Given the description of an element on the screen output the (x, y) to click on. 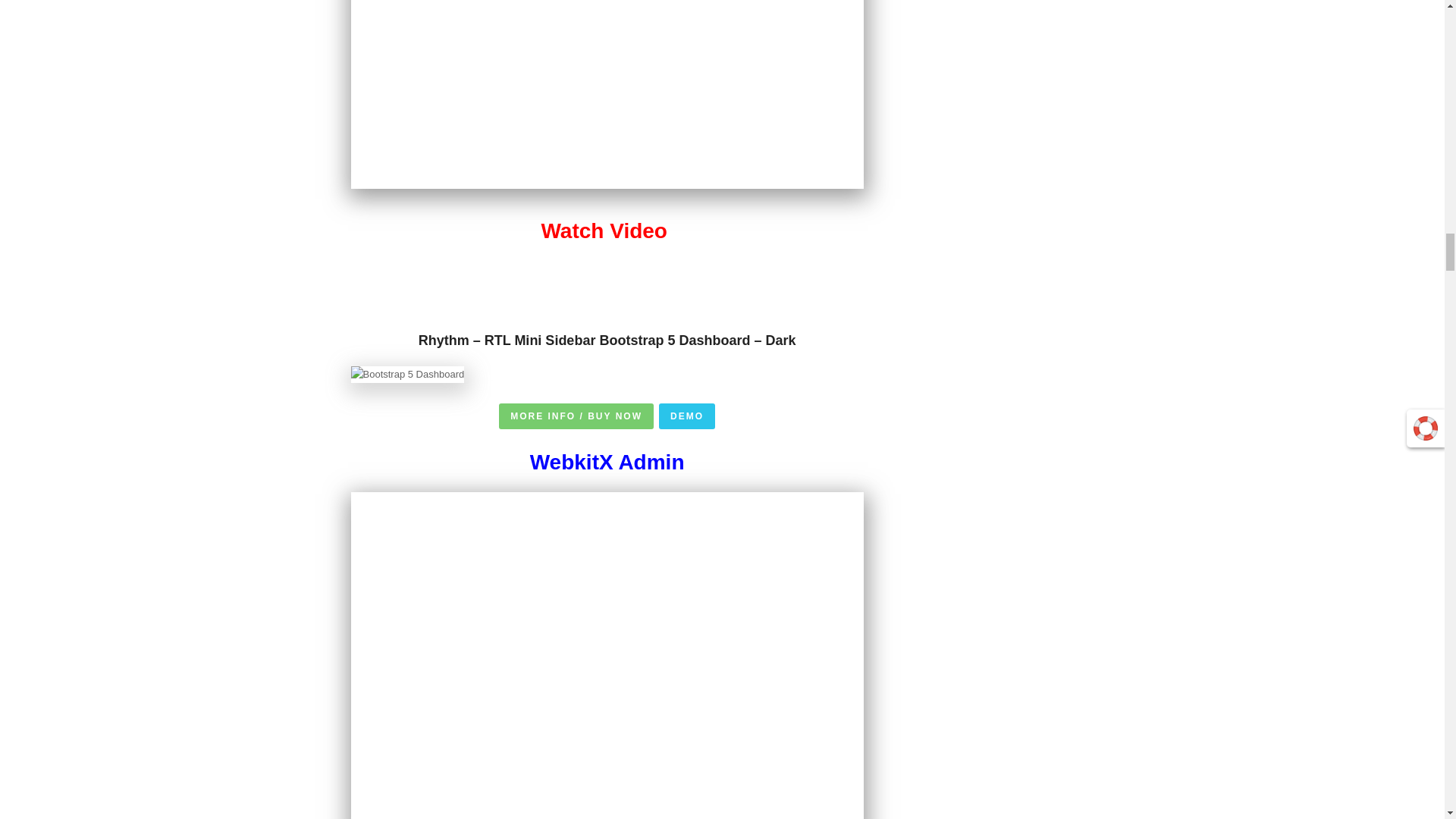
YouTube video player (606, 94)
